Given the description of an element on the screen output the (x, y) to click on. 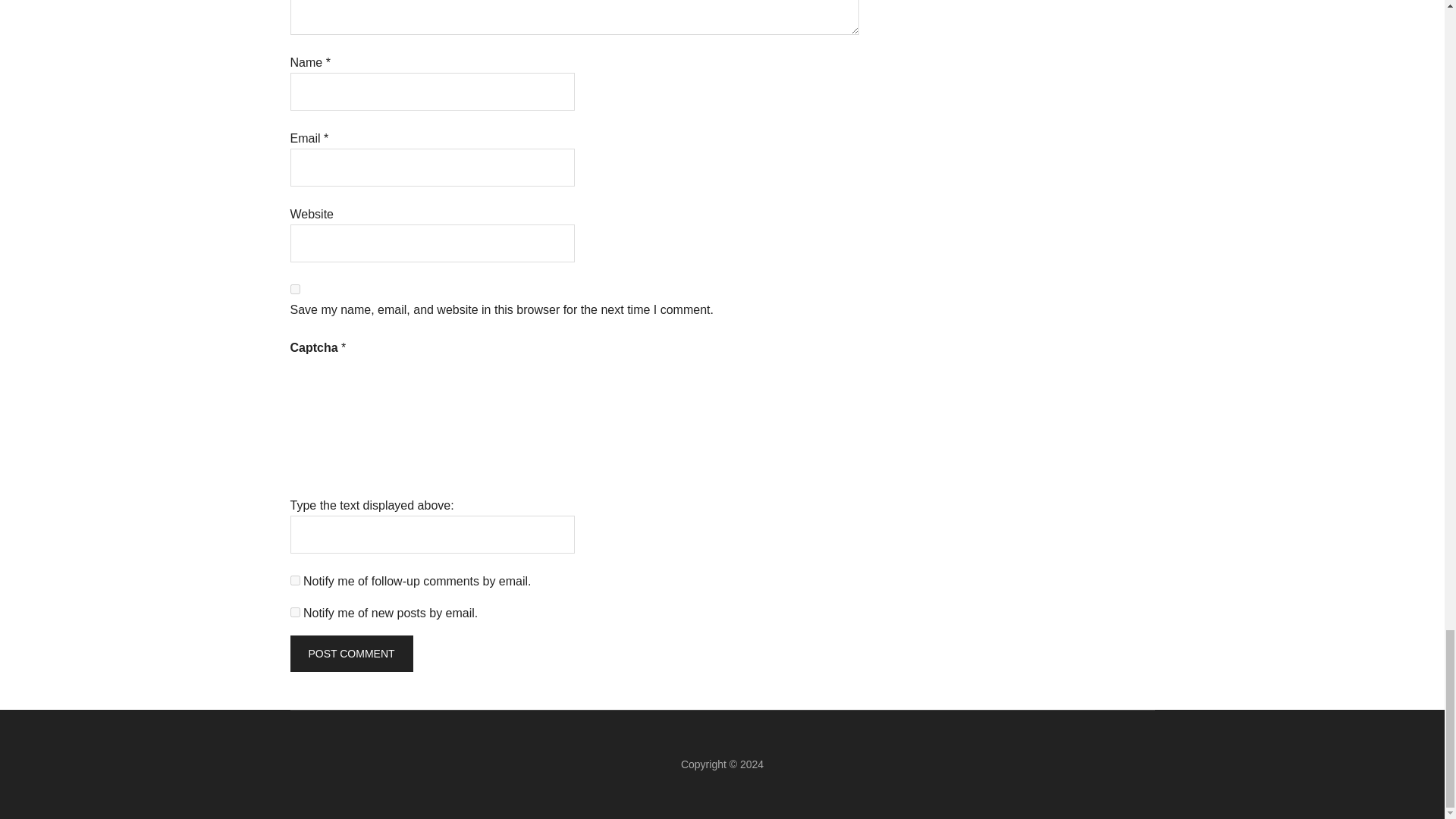
subscribe (294, 580)
yes (294, 289)
subscribe (294, 612)
Post Comment (350, 653)
Post Comment (350, 653)
